Given the description of an element on the screen output the (x, y) to click on. 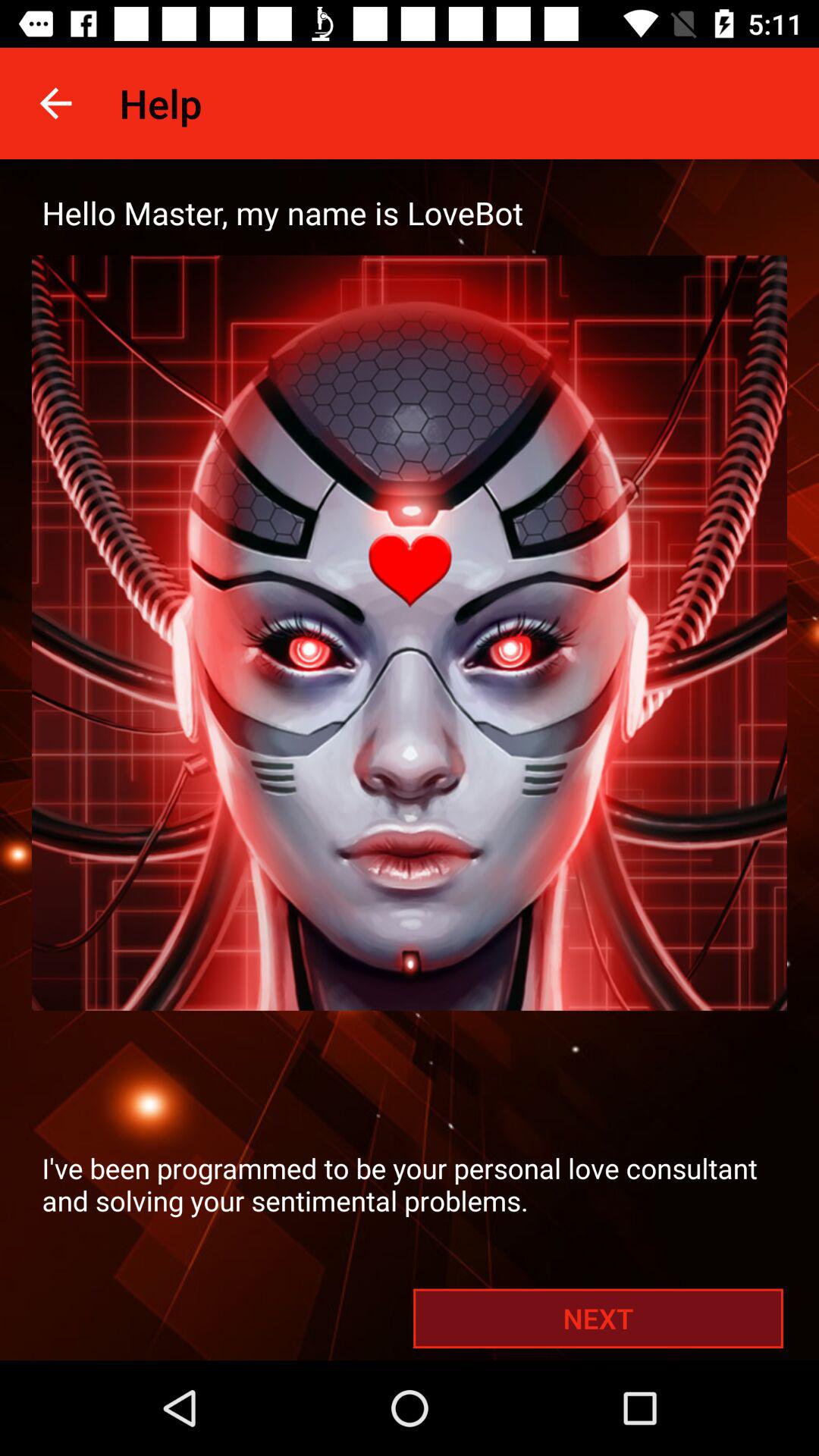
scroll until next icon (598, 1318)
